Given the description of an element on the screen output the (x, y) to click on. 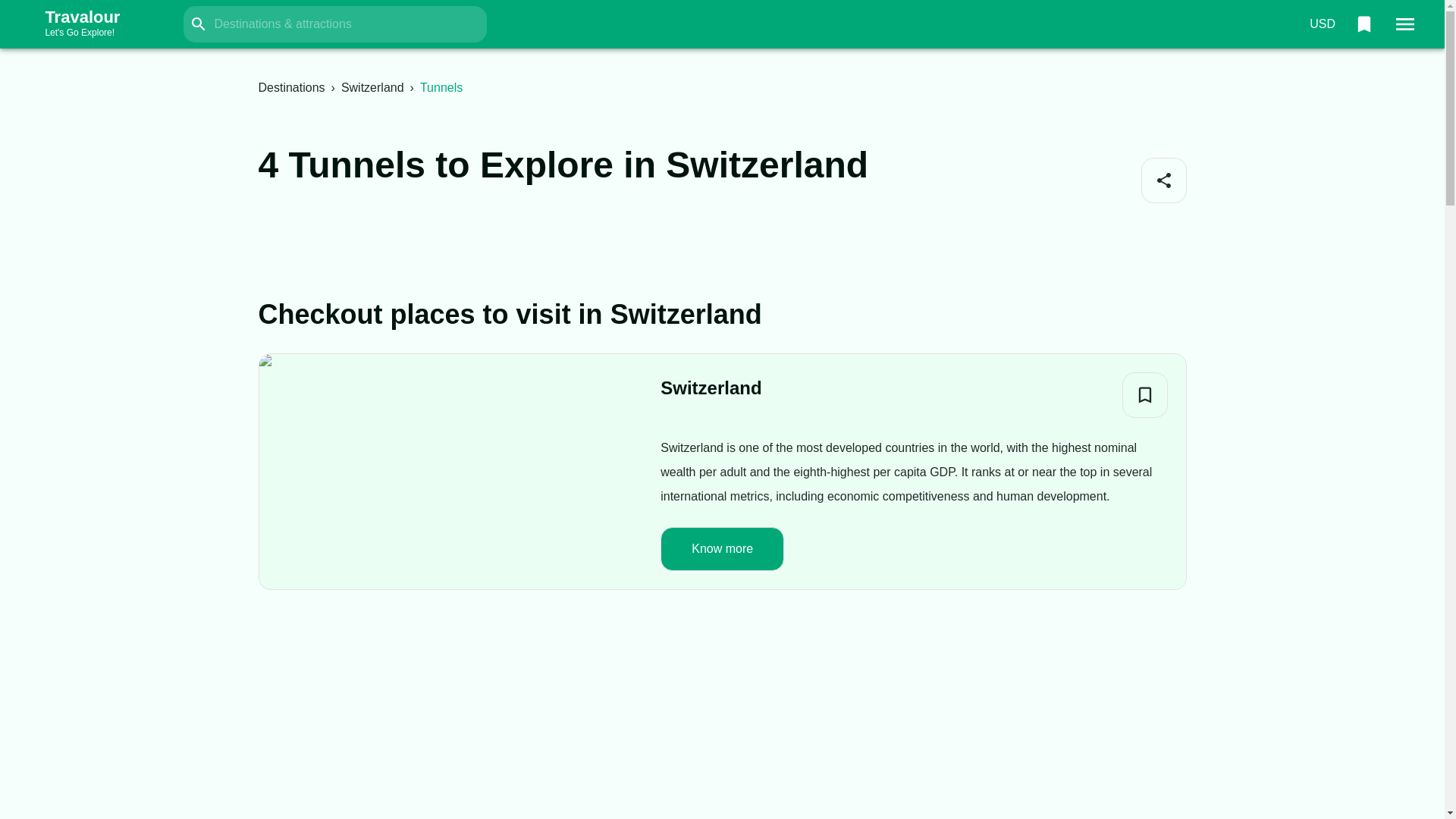
0 (1363, 24)
Switzerland (711, 388)
Destinations (290, 87)
Share (1163, 180)
Switzerland (97, 23)
USD (372, 87)
Add to Bucket List (1321, 23)
Know more (1144, 394)
